Given the description of an element on the screen output the (x, y) to click on. 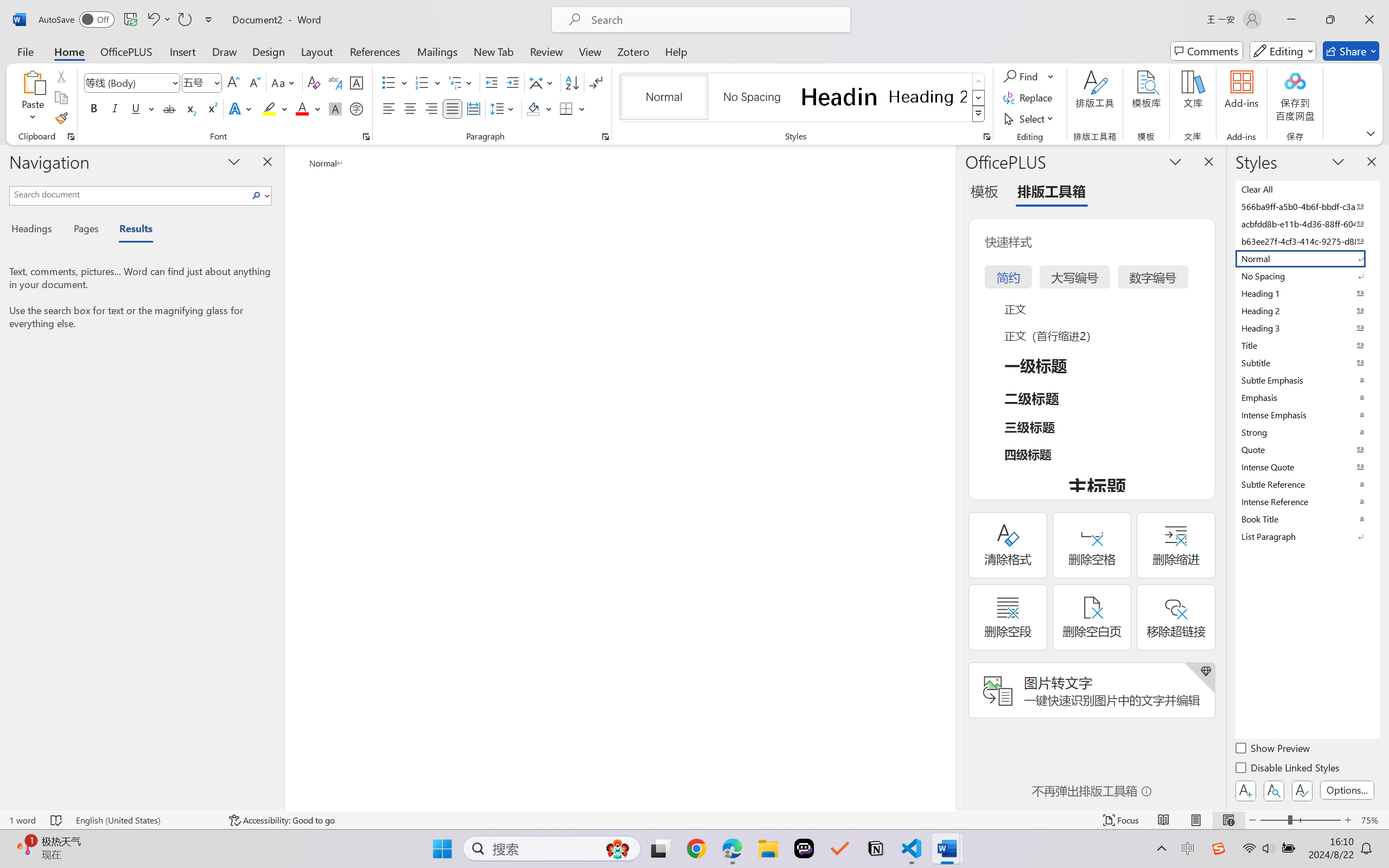
Emphasis (1306, 397)
Accessibility Checker Accessibility: Good to go (282, 819)
New Tab (493, 51)
Enclose Characters... (356, 108)
Multilevel List (461, 82)
Subtle Emphasis (1306, 379)
Copy (60, 97)
Disable Linked Styles (1287, 769)
Zoom Out (1273, 819)
Heading 2 (927, 96)
